Given the description of an element on the screen output the (x, y) to click on. 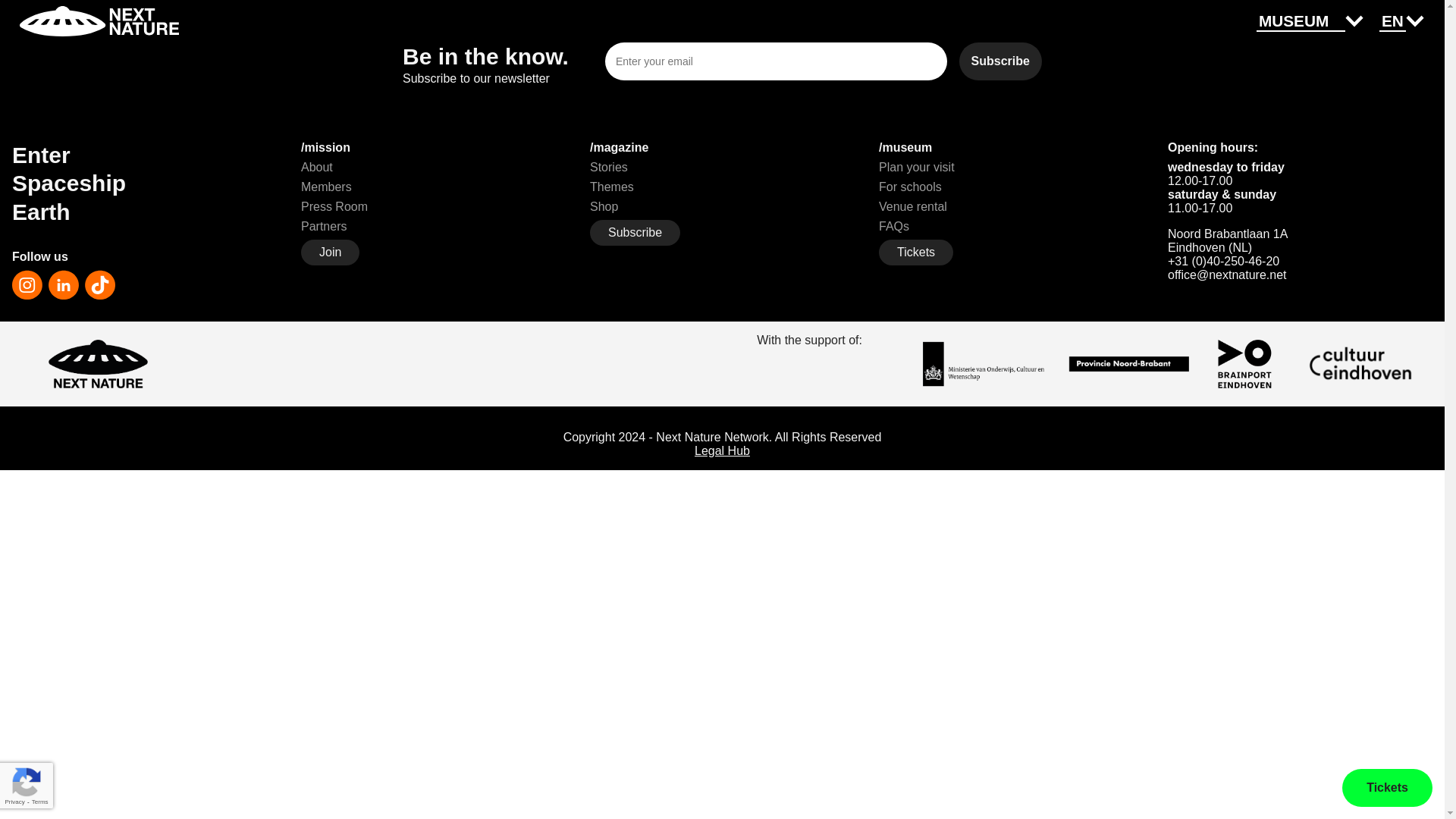
Press Room (334, 205)
Stories (608, 166)
About (317, 166)
Shop (603, 205)
Members (326, 186)
Subscribe (634, 232)
EN (1392, 21)
For schools (910, 186)
Venue rental (913, 205)
Plan your visit (917, 166)
